Given the description of an element on the screen output the (x, y) to click on. 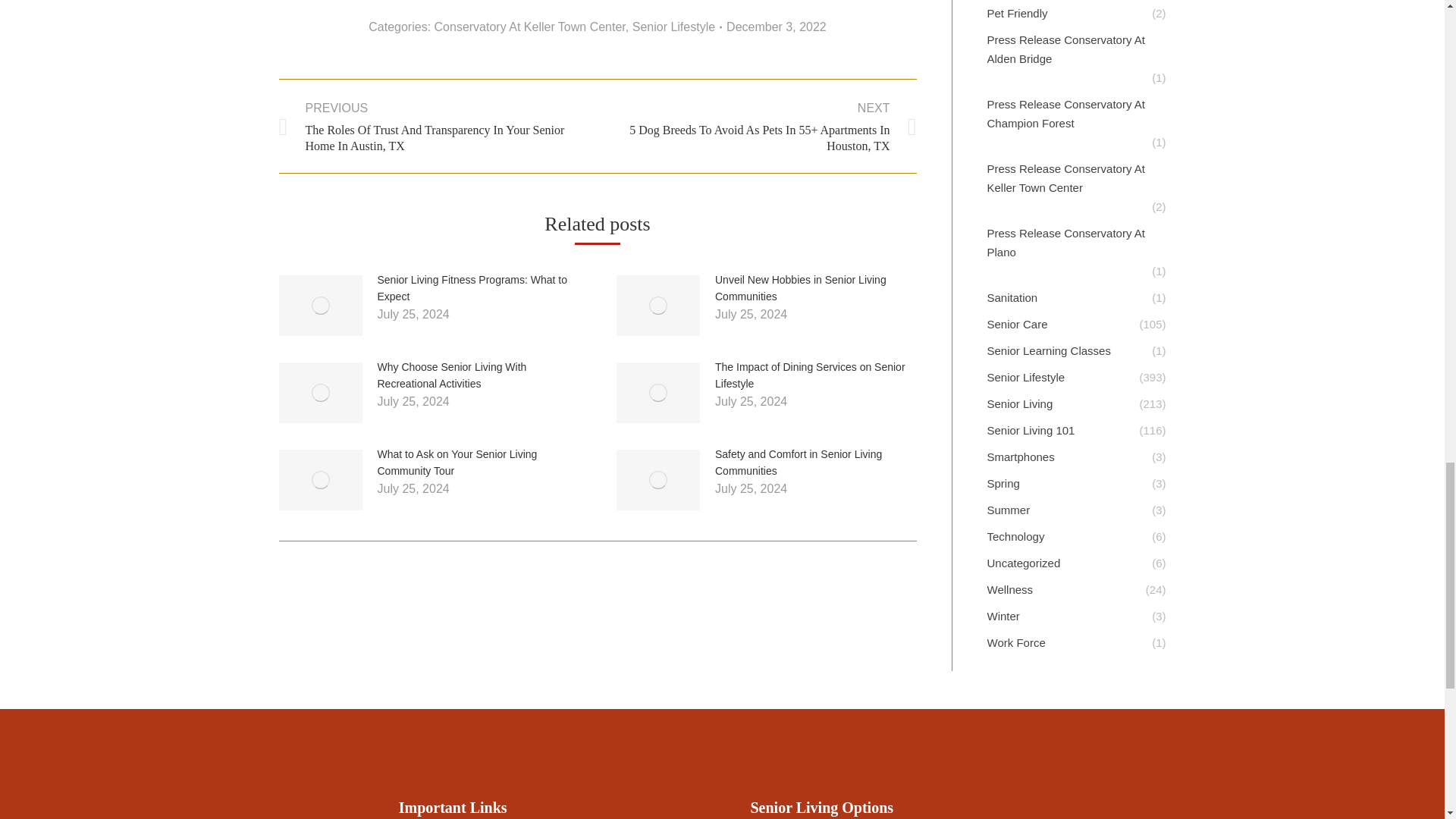
9:08 am (776, 26)
